Given the description of an element on the screen output the (x, y) to click on. 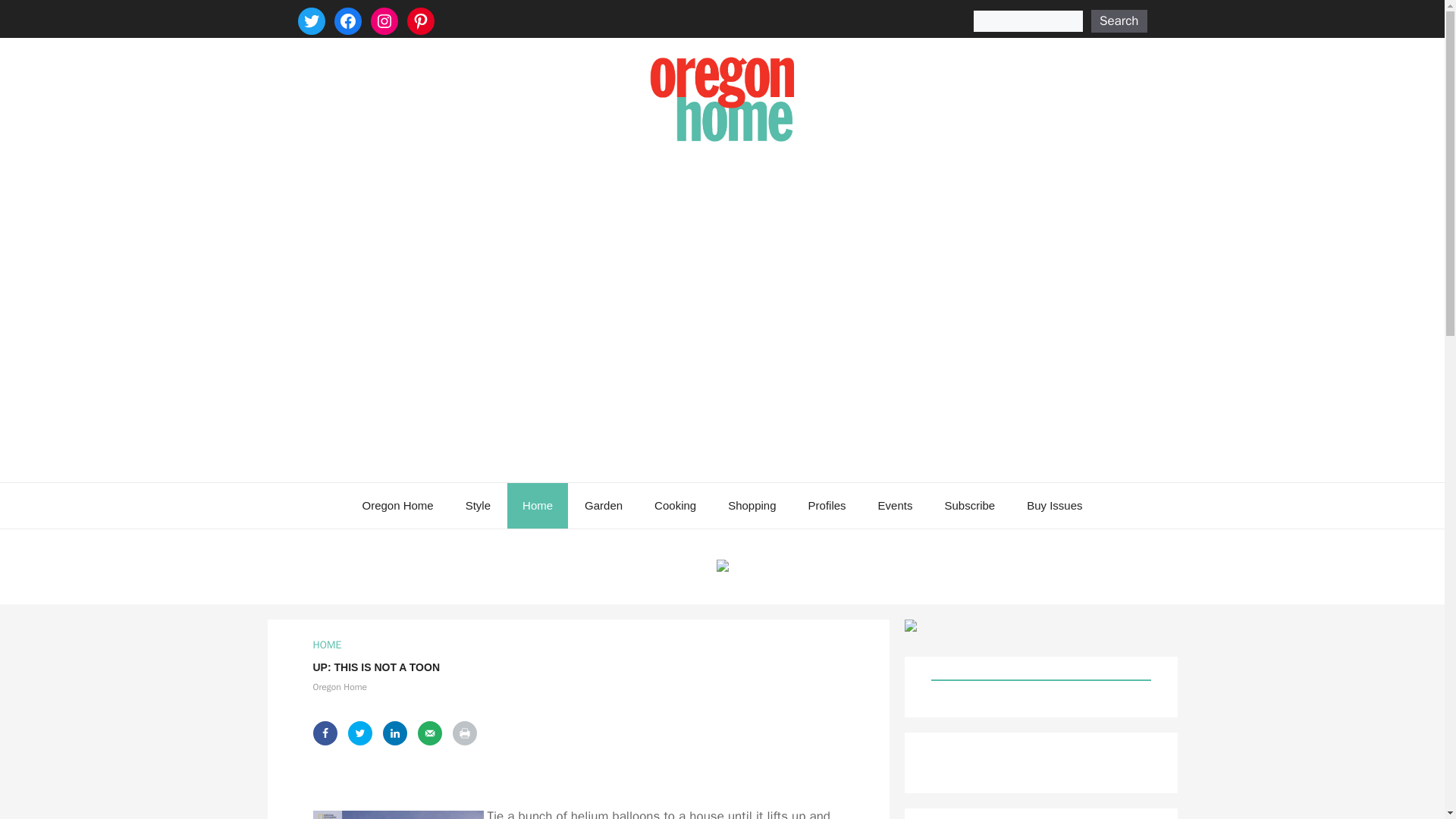
Twitter (310, 21)
Facebook (347, 21)
Share on LinkedIn (393, 733)
Cooking (675, 505)
Oregon Home (397, 505)
Buy Issues (1054, 505)
Garden (603, 505)
Oregon Home (339, 686)
Style (477, 505)
Search (1118, 20)
View all posts by Oregon Home (339, 686)
Share on Facebook (324, 733)
Profiles (827, 505)
Share on Twitter (359, 733)
Home (536, 505)
